Given the description of an element on the screen output the (x, y) to click on. 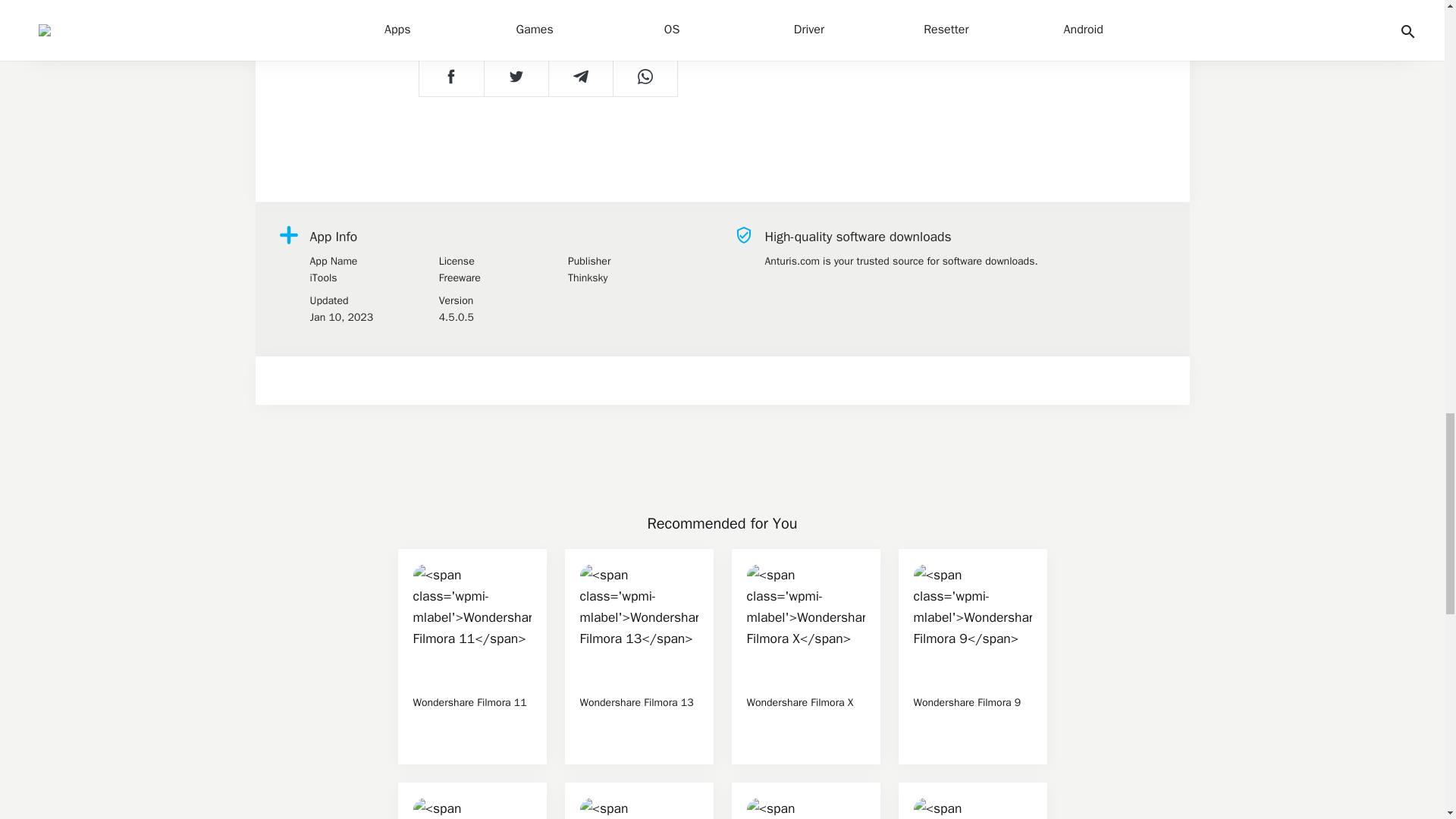
Share on Twitter (515, 75)
Share on Facebook (451, 75)
Share on WhatsApp (644, 75)
 Freeware (496, 278)
Share on Telegram (579, 75)
 iTools (365, 278)
